Given the description of an element on the screen output the (x, y) to click on. 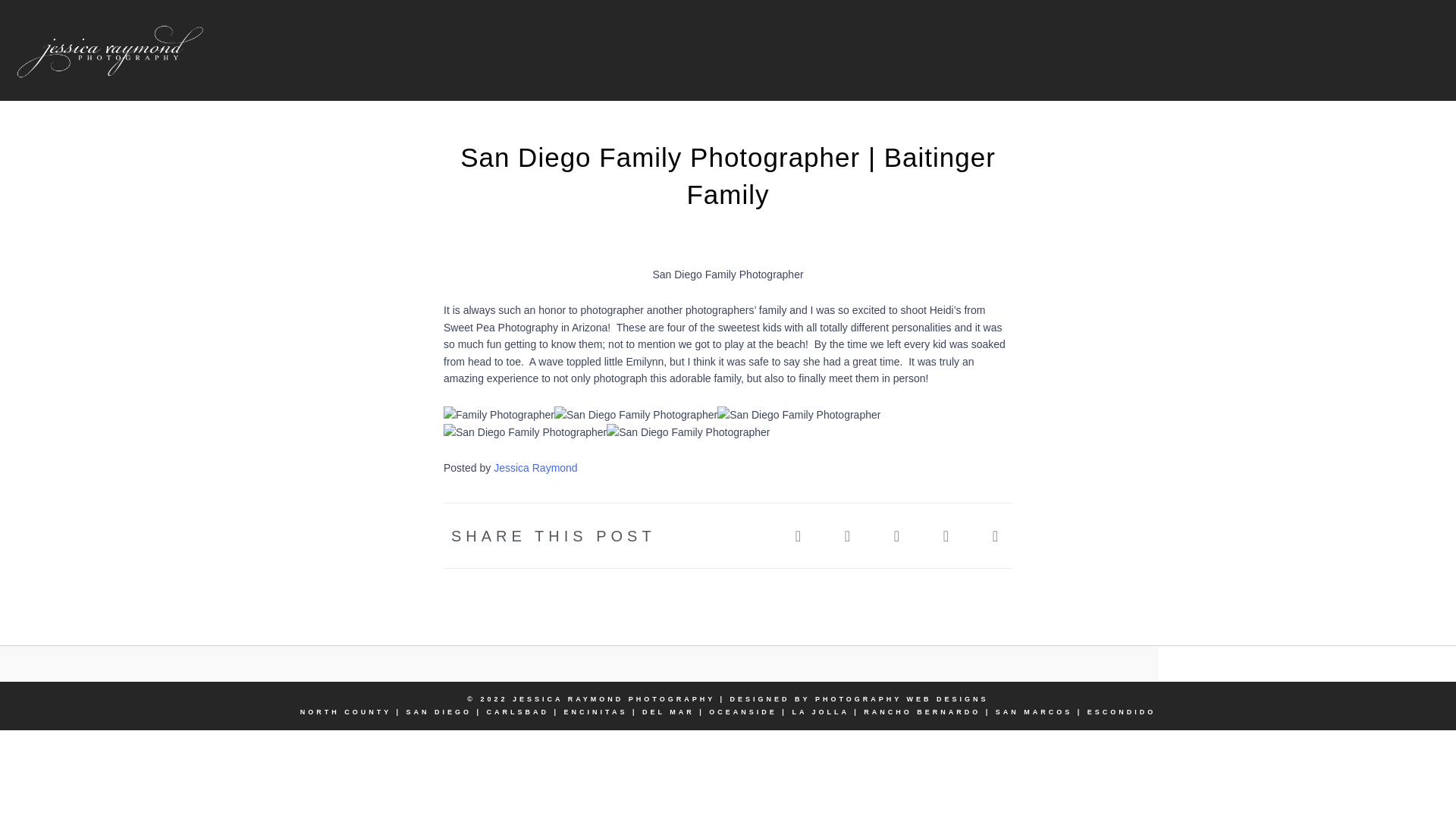
Jessica Raymond (535, 467)
LA JOLLA (820, 711)
SAN MARCOS (1034, 711)
DEL MAR (668, 711)
SAN DIEGO (438, 711)
ESCONDIDO (1121, 711)
OCEANSIDE (743, 711)
CARLSBAD (518, 711)
RANCHO BERNARDO (921, 711)
NORTH COUNTY (345, 711)
PHOTOGRAPHY WEB DESIGNS (901, 698)
ENCINITAS (595, 711)
